Given the description of an element on the screen output the (x, y) to click on. 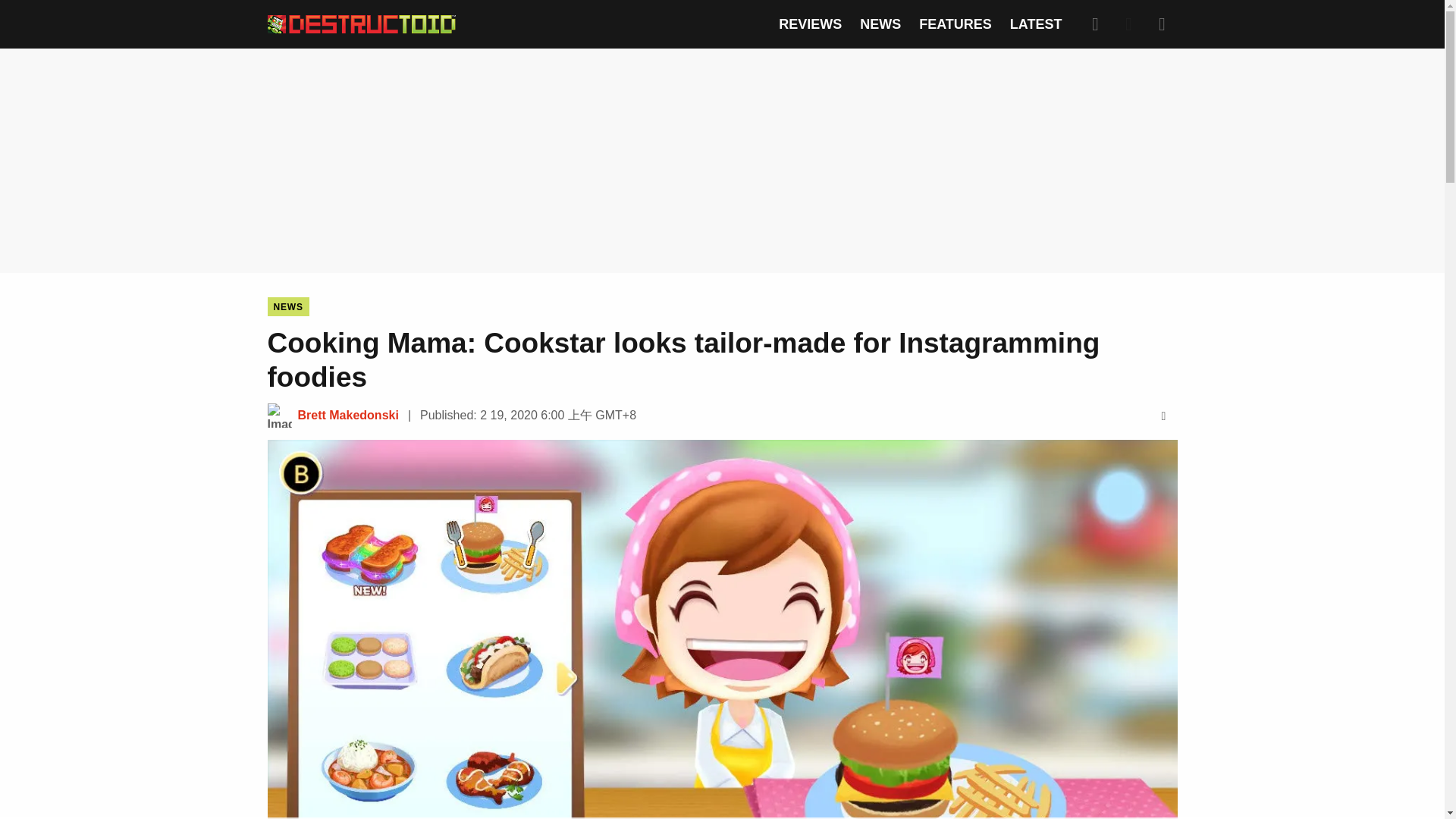
LATEST (1036, 23)
Dark Mode (1127, 24)
FEATURES (954, 23)
Search (1094, 24)
NEWS (880, 23)
NEWS (287, 306)
Expand Menu (1161, 24)
REVIEWS (809, 23)
